Given the description of an element on the screen output the (x, y) to click on. 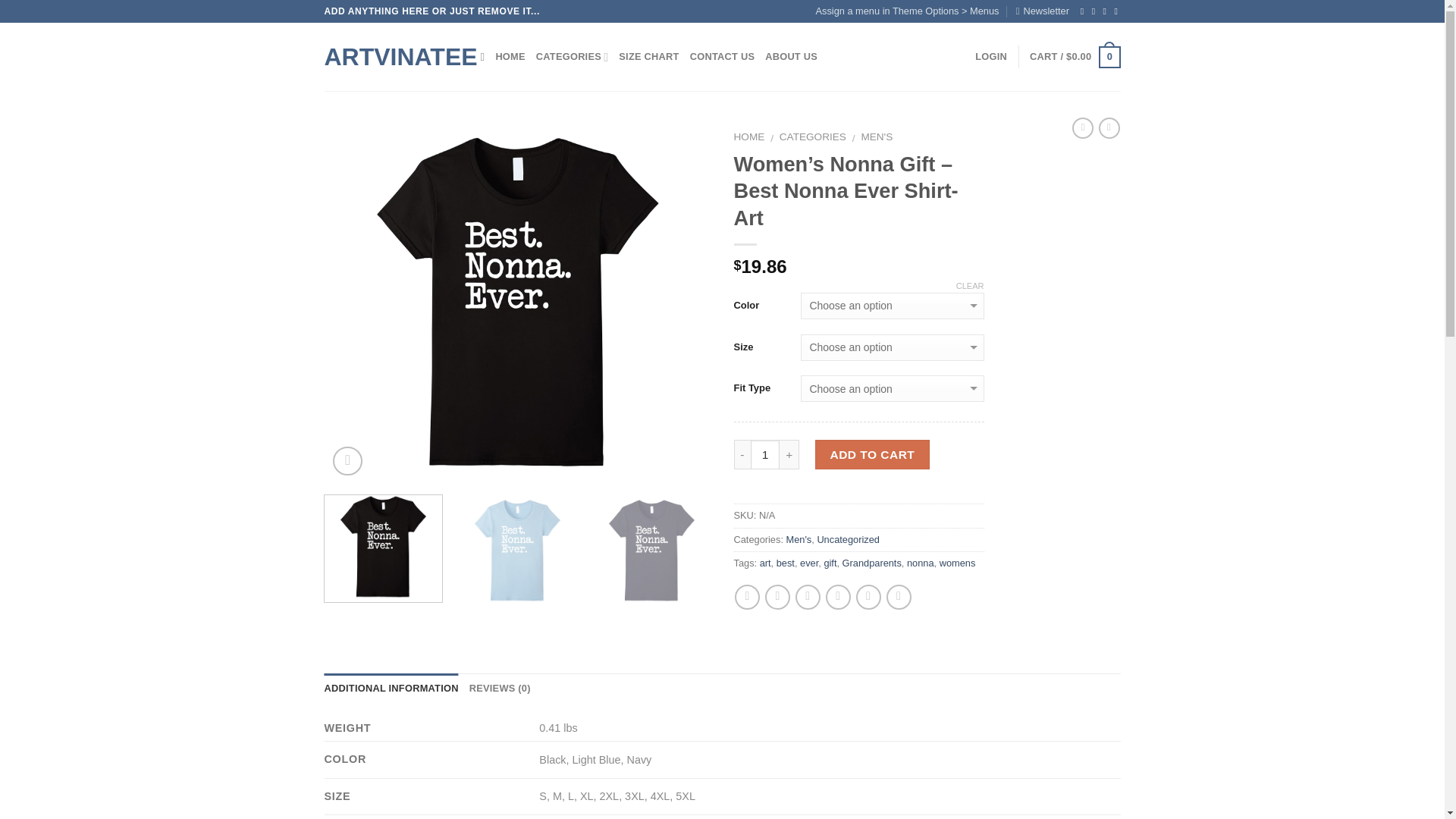
Black  (382, 547)
HOME (509, 56)
SIZE CHART (648, 56)
Artvinatee - Cool T Shirt Designs For Men And Women (391, 56)
1 (765, 454)
CONTACT US (722, 56)
Qty (765, 454)
ARTVINATEE (391, 56)
 Light Blue  (517, 547)
Cart (1074, 57)
ABOUT US (790, 56)
 Navy (651, 547)
Black  (517, 300)
CATEGORIES (571, 56)
LOGIN (991, 56)
